Given the description of an element on the screen output the (x, y) to click on. 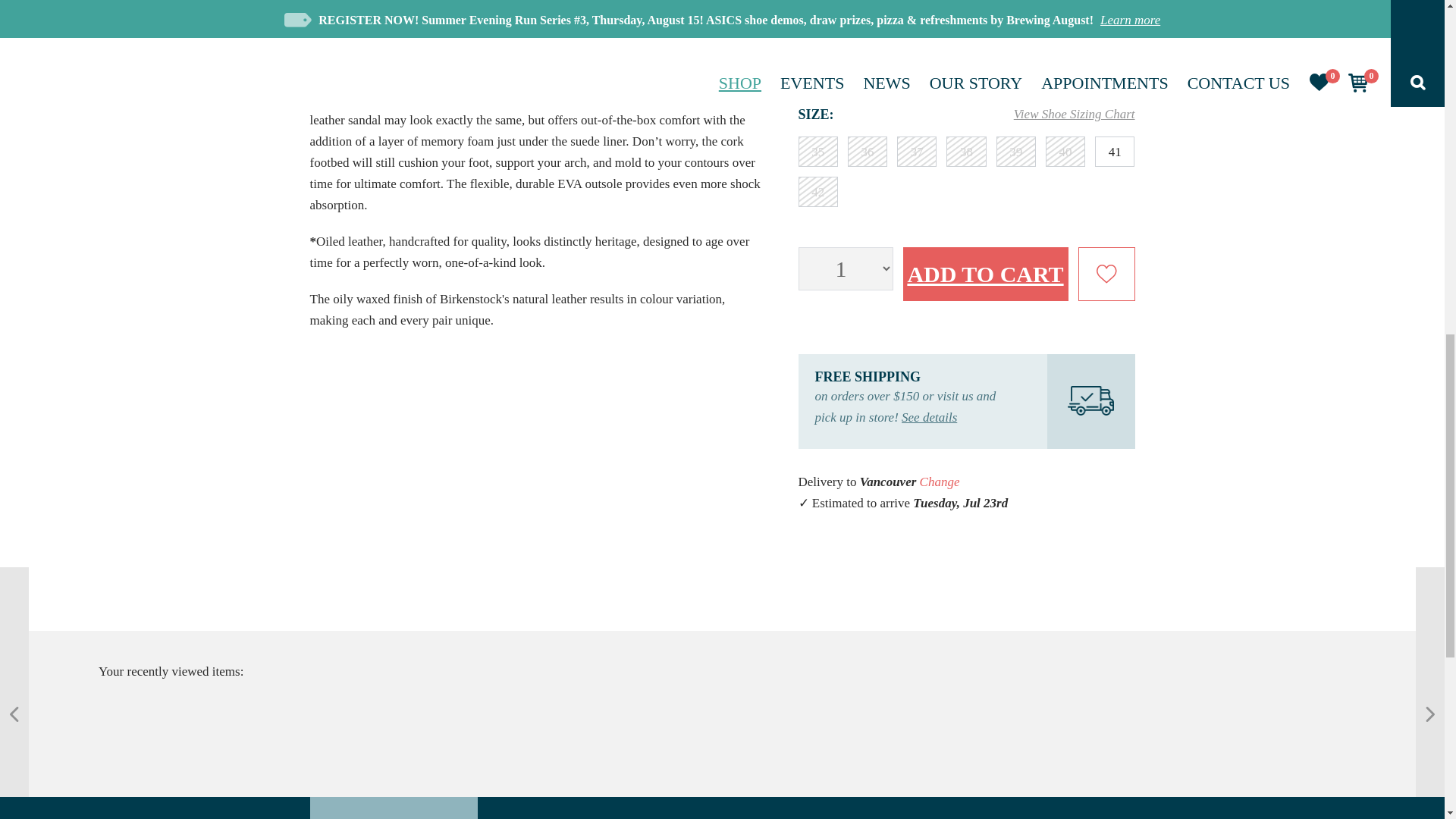
Out of stock (1064, 151)
Out of stock (1015, 151)
Out of stock (965, 151)
Out of stock (817, 151)
Out of stock (916, 151)
Out of stock (866, 151)
Out of stock (817, 191)
